Given the description of an element on the screen output the (x, y) to click on. 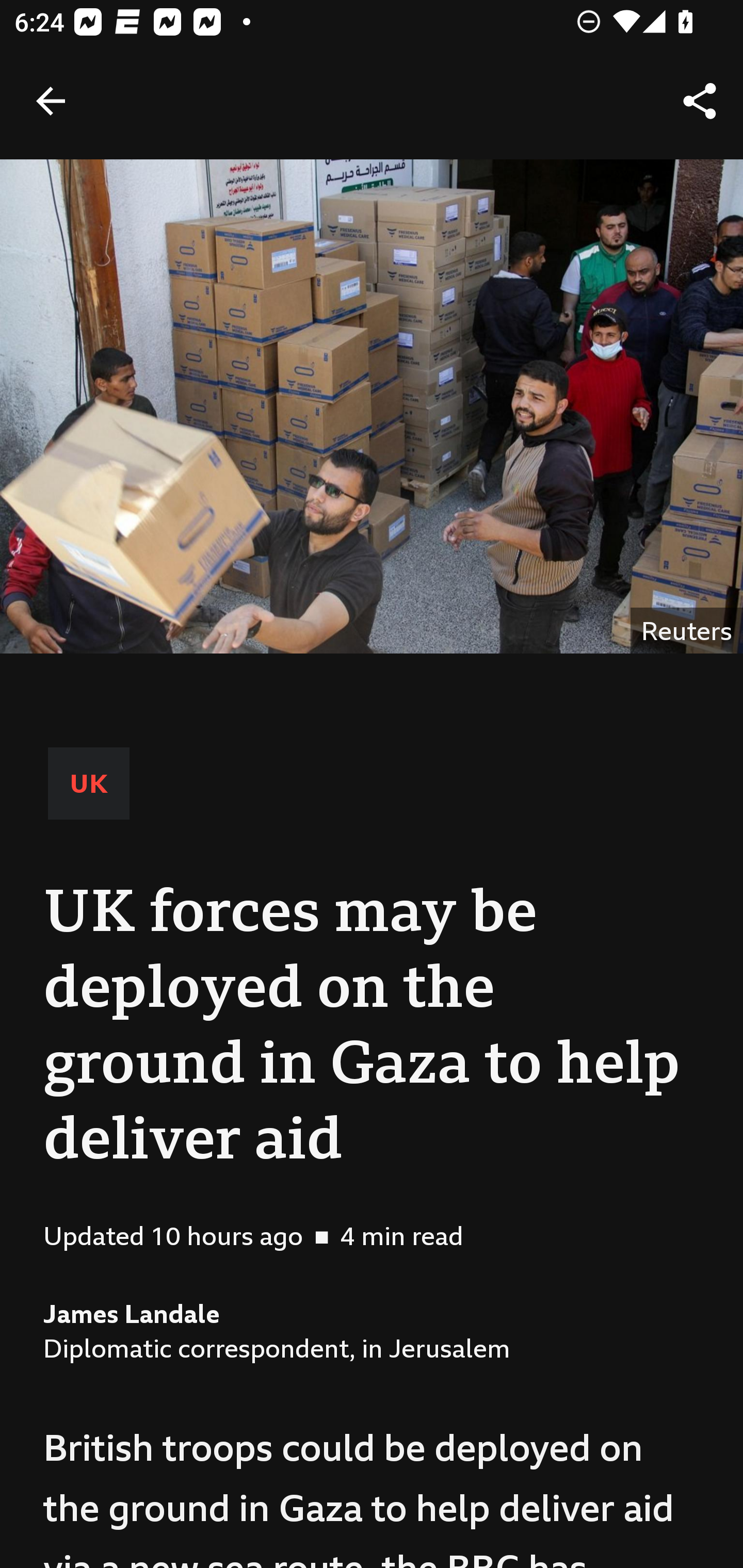
Back (50, 101)
Share (699, 101)
UK (88, 783)
